Given the description of an element on the screen output the (x, y) to click on. 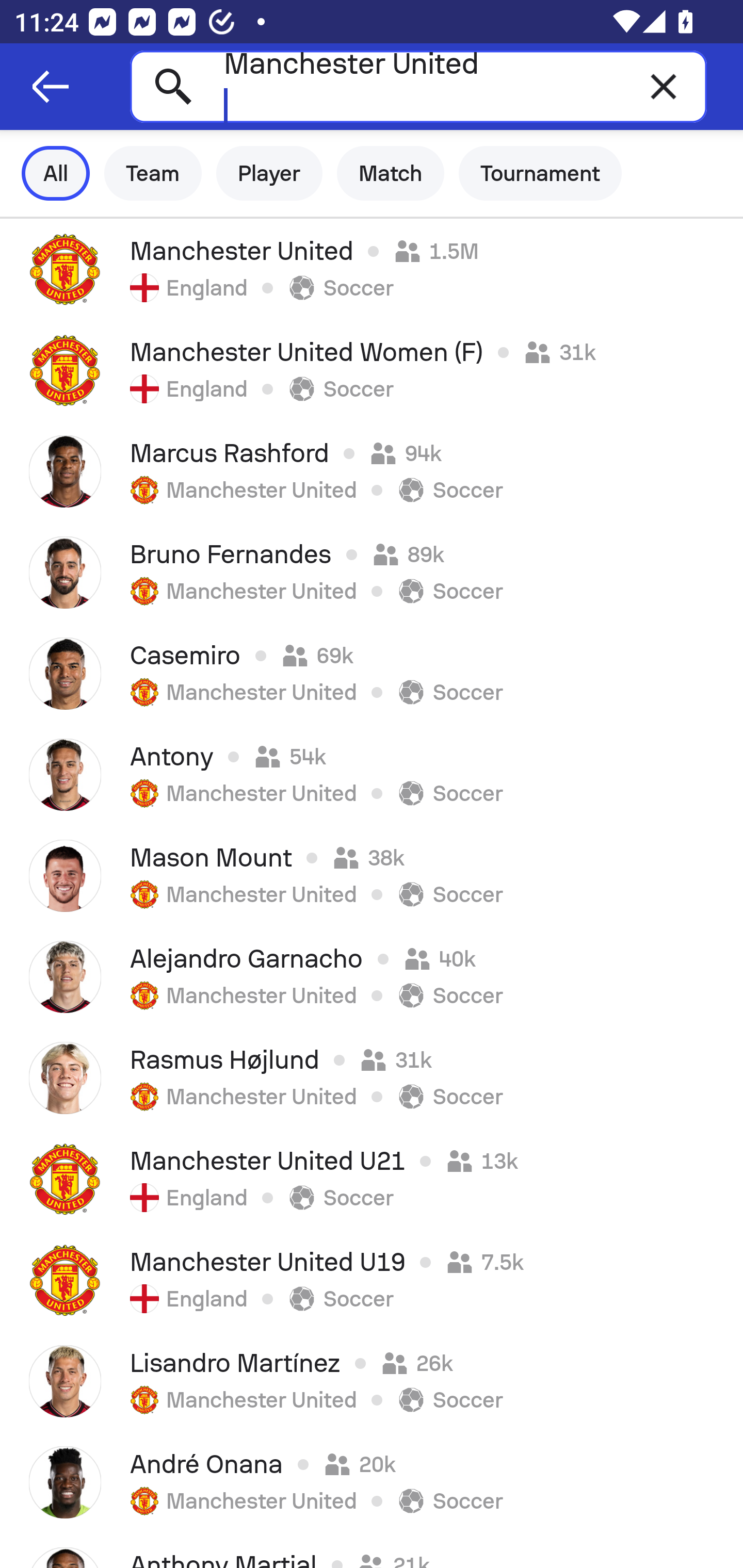
Navigate up (50, 86)
Manchester United
 (418, 86)
Clear text (663, 86)
All (55, 172)
Team (152, 172)
Player (268, 172)
Match (390, 172)
Tournament (540, 172)
Manchester United 1.5M England Soccer (371, 268)
Manchester United Women (F) 31k England Soccer (371, 369)
Marcus Rashford 94k Manchester United Soccer (371, 471)
Bruno Fernandes 89k Manchester United Soccer (371, 572)
Casemiro 69k Manchester United Soccer (371, 673)
Antony 54k Manchester United Soccer (371, 774)
Mason Mount 38k Manchester United Soccer (371, 875)
Alejandro Garnacho 40k Manchester United Soccer (371, 976)
Rasmus Højlund 31k Manchester United Soccer (371, 1077)
Manchester United U21 13k England Soccer (371, 1178)
Manchester United U19 7.5k England Soccer (371, 1280)
Lisandro Martínez 26k Manchester United Soccer (371, 1381)
André Onana 20k Manchester United Soccer (371, 1482)
